Given the description of an element on the screen output the (x, y) to click on. 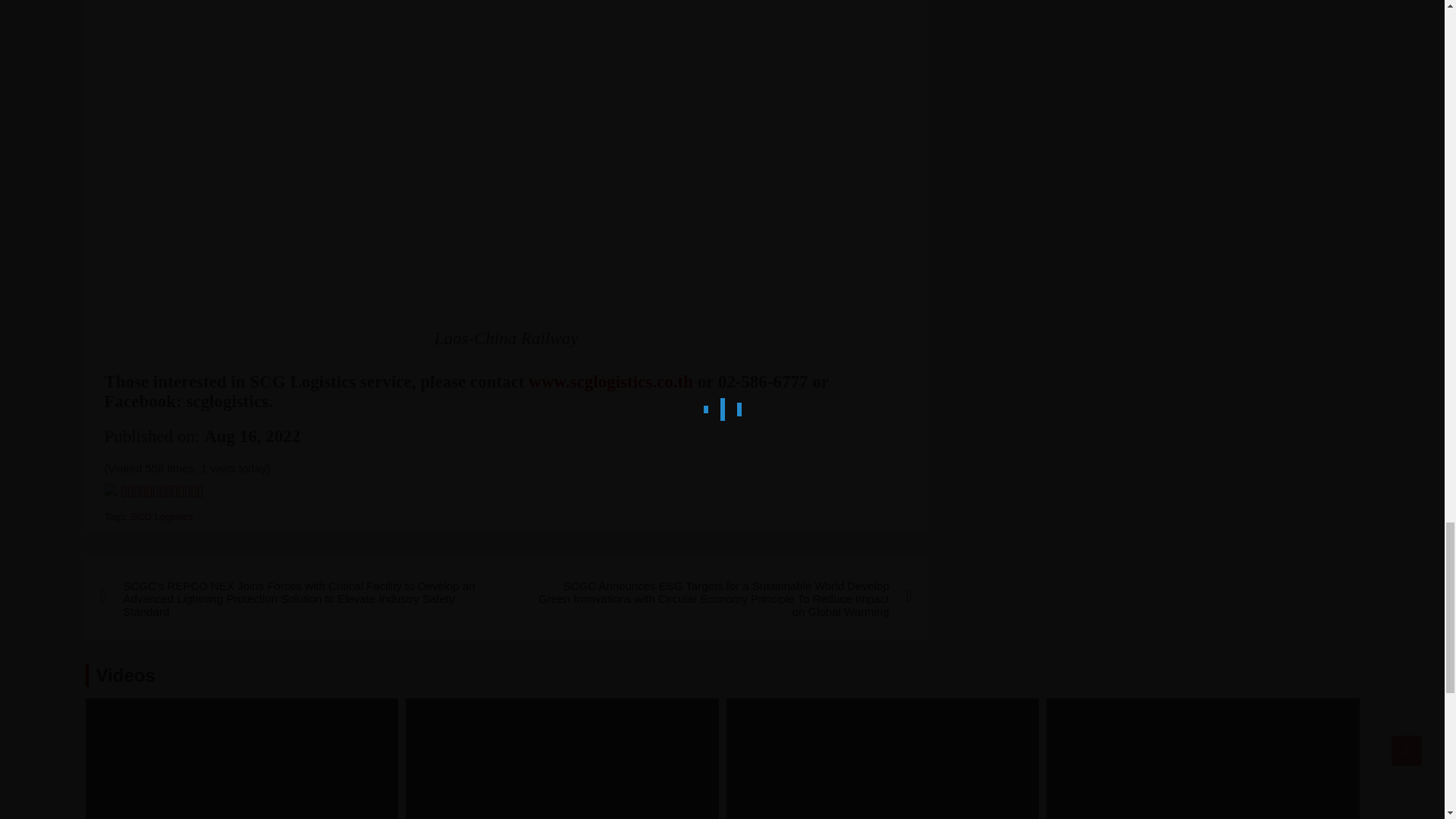
SCG Logistics (161, 516)
www.scglogistics.co.th (610, 381)
